Given the description of an element on the screen output the (x, y) to click on. 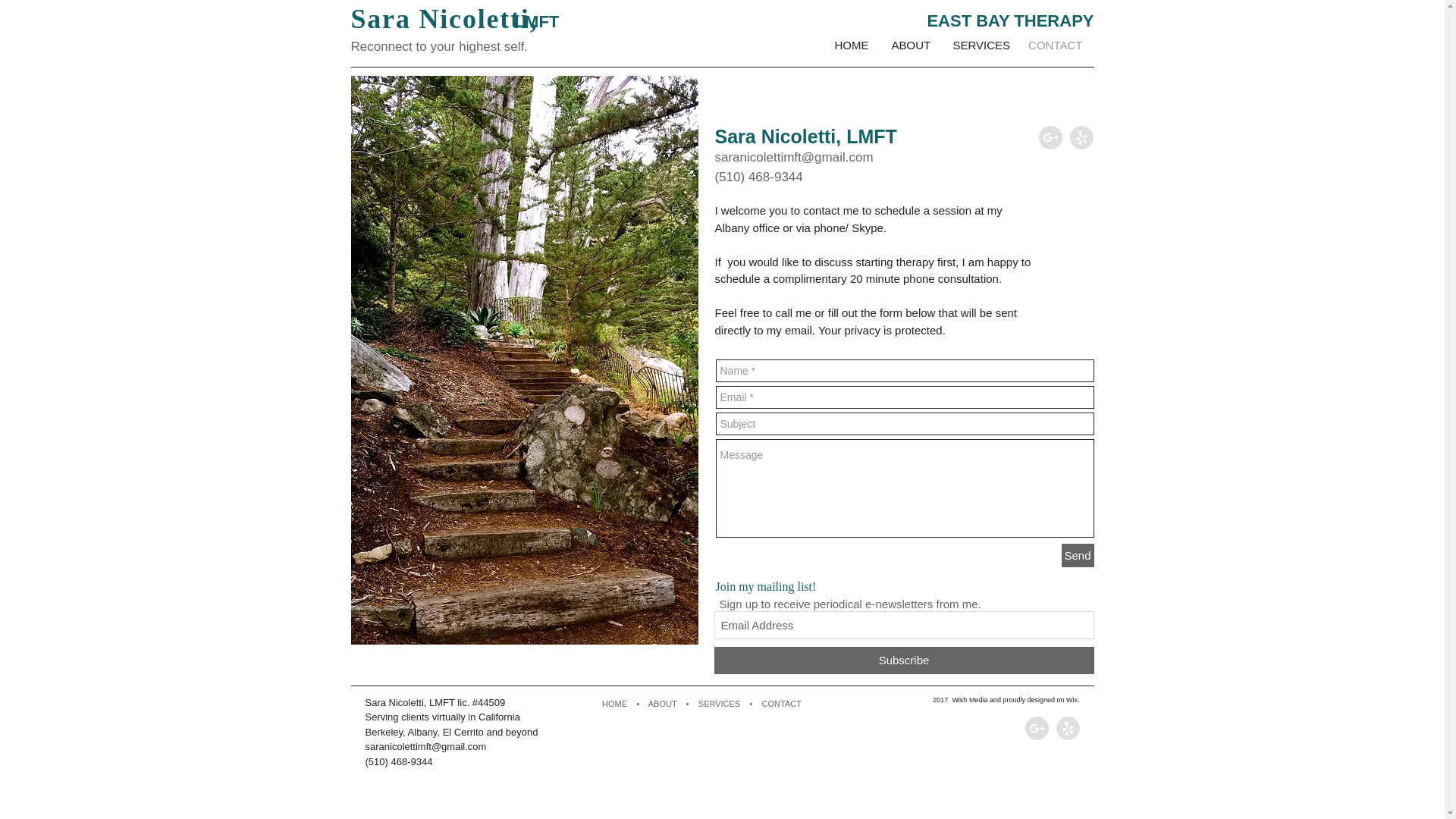
CONTACT (1053, 45)
Send (1077, 555)
ABOUT (909, 45)
SERVICES (718, 703)
HOME (850, 45)
Subscribe (904, 660)
EAST BAY THERAPY (1009, 20)
CONTACT (781, 703)
SERVICES (978, 45)
ABOUT (662, 703)
